Given the description of an element on the screen output the (x, y) to click on. 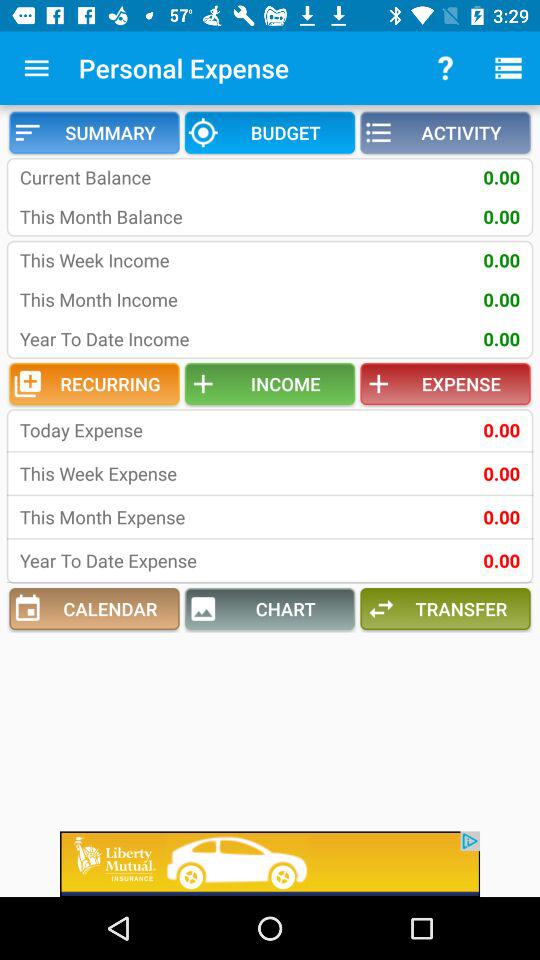
open item above current balance icon (269, 132)
